Given the description of an element on the screen output the (x, y) to click on. 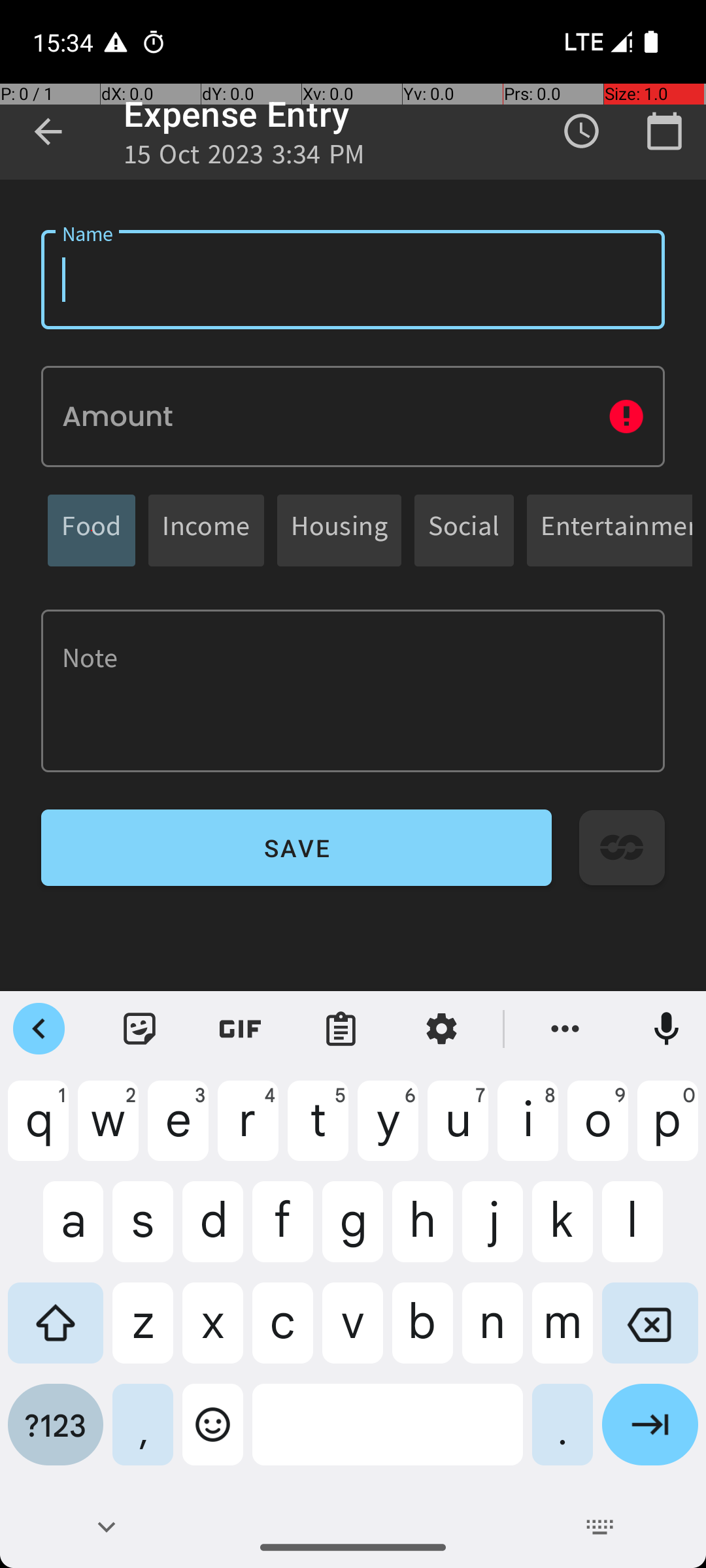
Close features menu Element type: android.widget.FrameLayout (39, 1028)
Sticker Keyboard Element type: android.widget.FrameLayout (139, 1028)
GIF Keyboard Element type: android.widget.FrameLayout (240, 1028)
Clipboard Element type: android.widget.FrameLayout (340, 1028)
More features Element type: android.widget.FrameLayout (565, 1028)
